Given the description of an element on the screen output the (x, y) to click on. 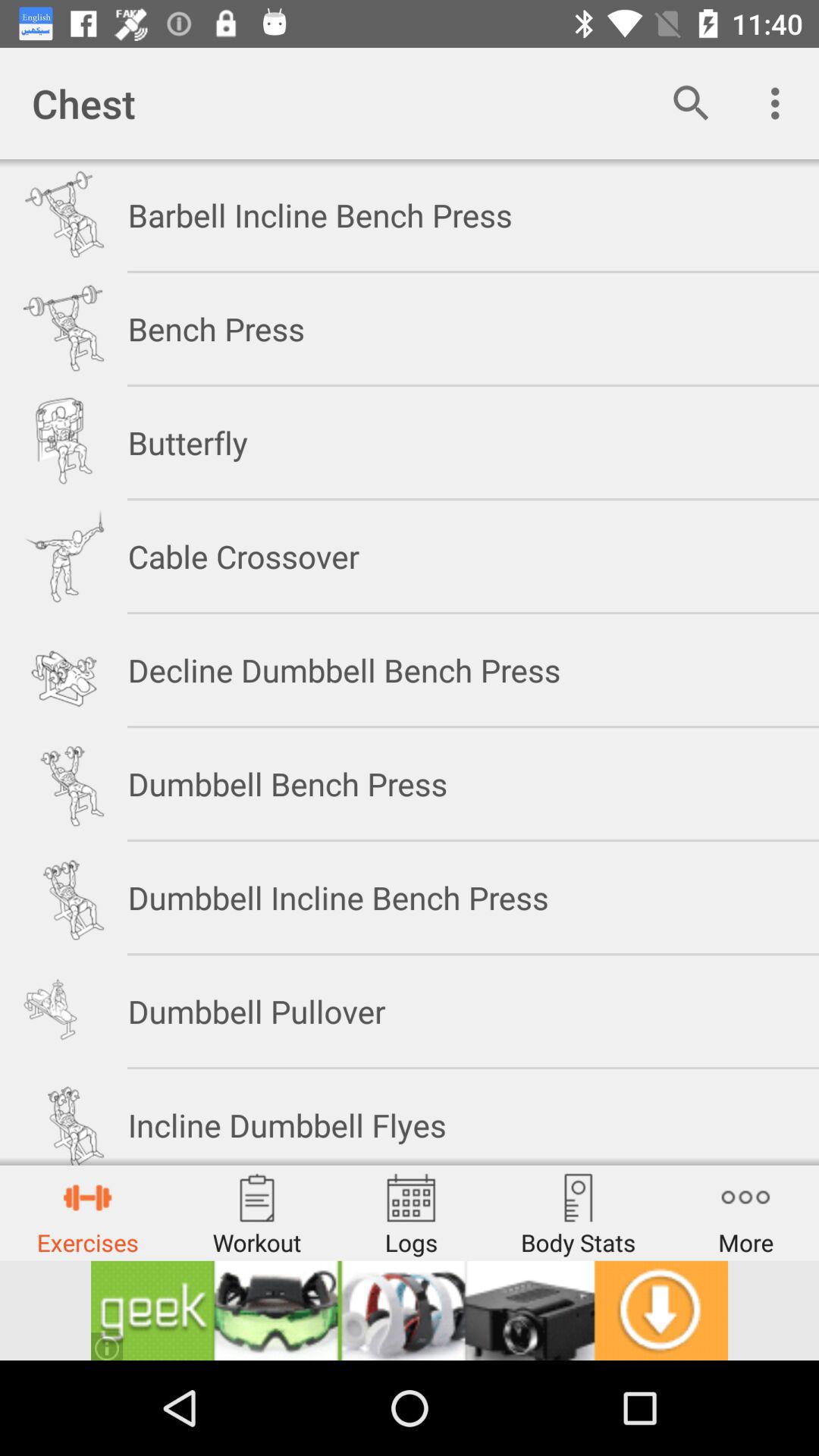
out line (409, 1310)
